Given the description of an element on the screen output the (x, y) to click on. 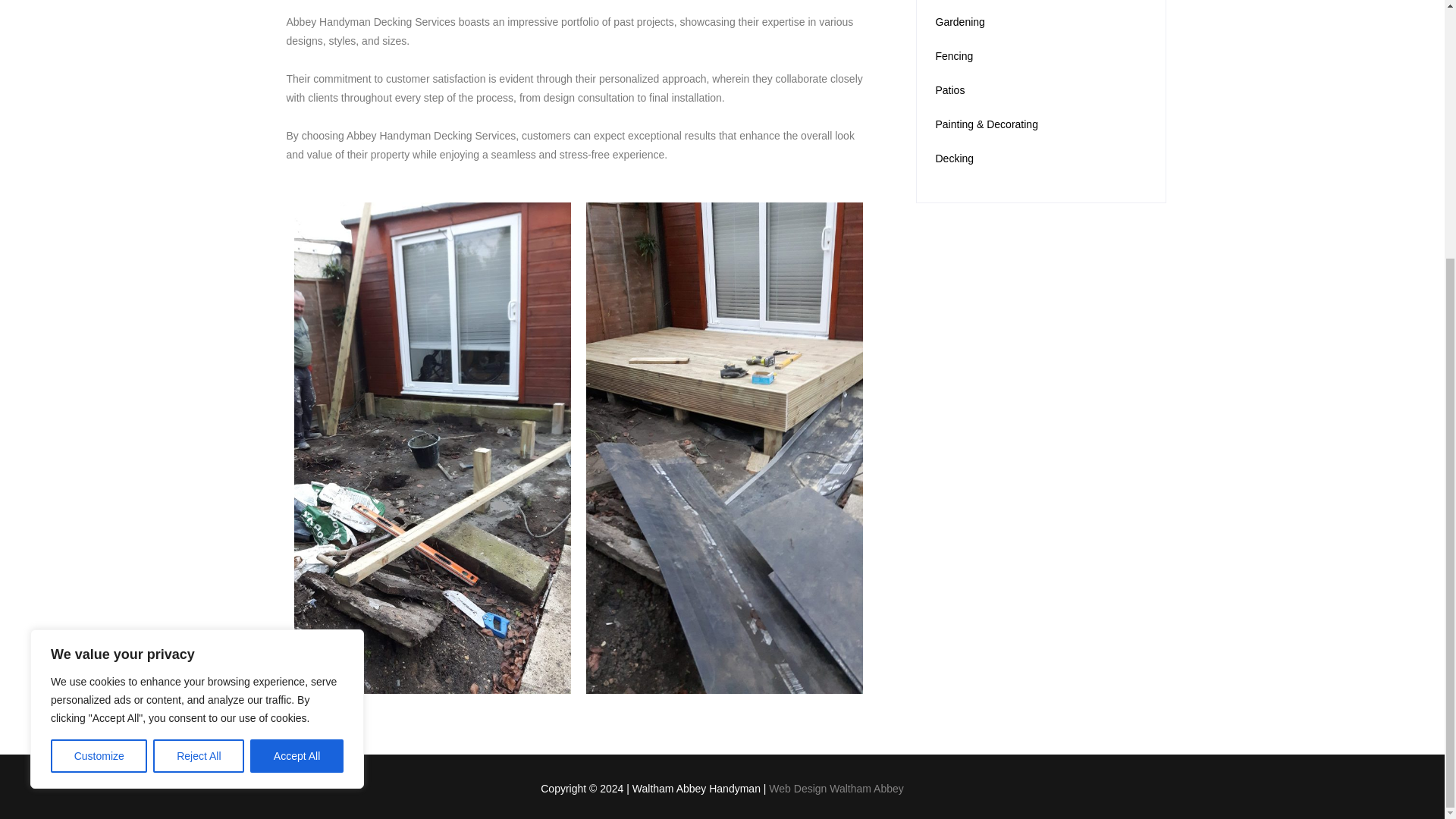
Web Design Waltham Abbey (835, 788)
Fencing (955, 55)
Gardening (960, 21)
Decking (955, 158)
Patios (950, 90)
Accept All (296, 387)
Reject All (198, 387)
Customize (98, 387)
